Given the description of an element on the screen output the (x, y) to click on. 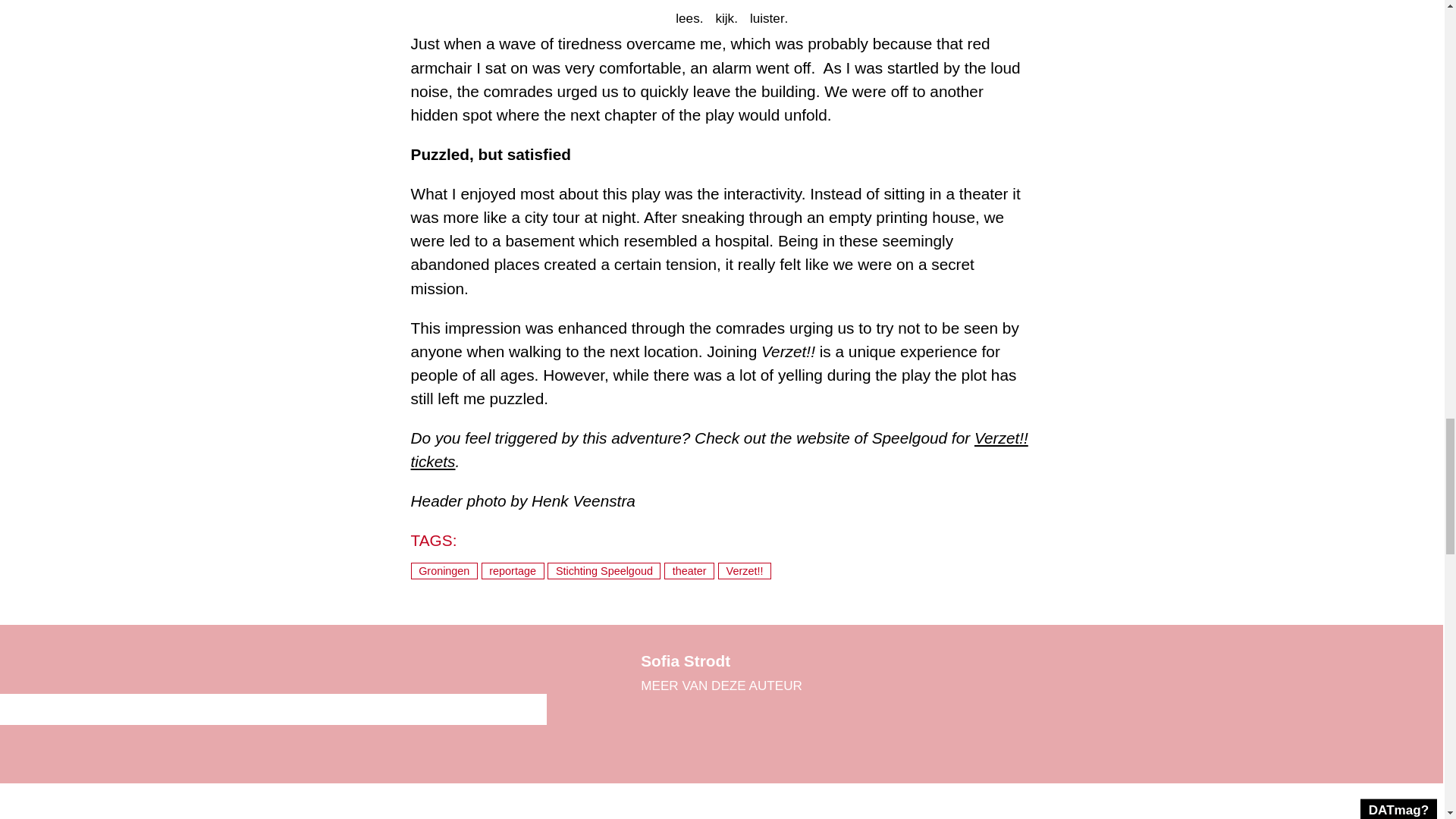
MEER VAN DEZE AUTEUR (721, 685)
Sofia Strodt (685, 660)
Verzet!! tickets (718, 449)
Stichting Speelgoud (604, 570)
Verzet!! (744, 570)
Groningen (443, 570)
theater (688, 570)
reportage (512, 570)
